Given the description of an element on the screen output the (x, y) to click on. 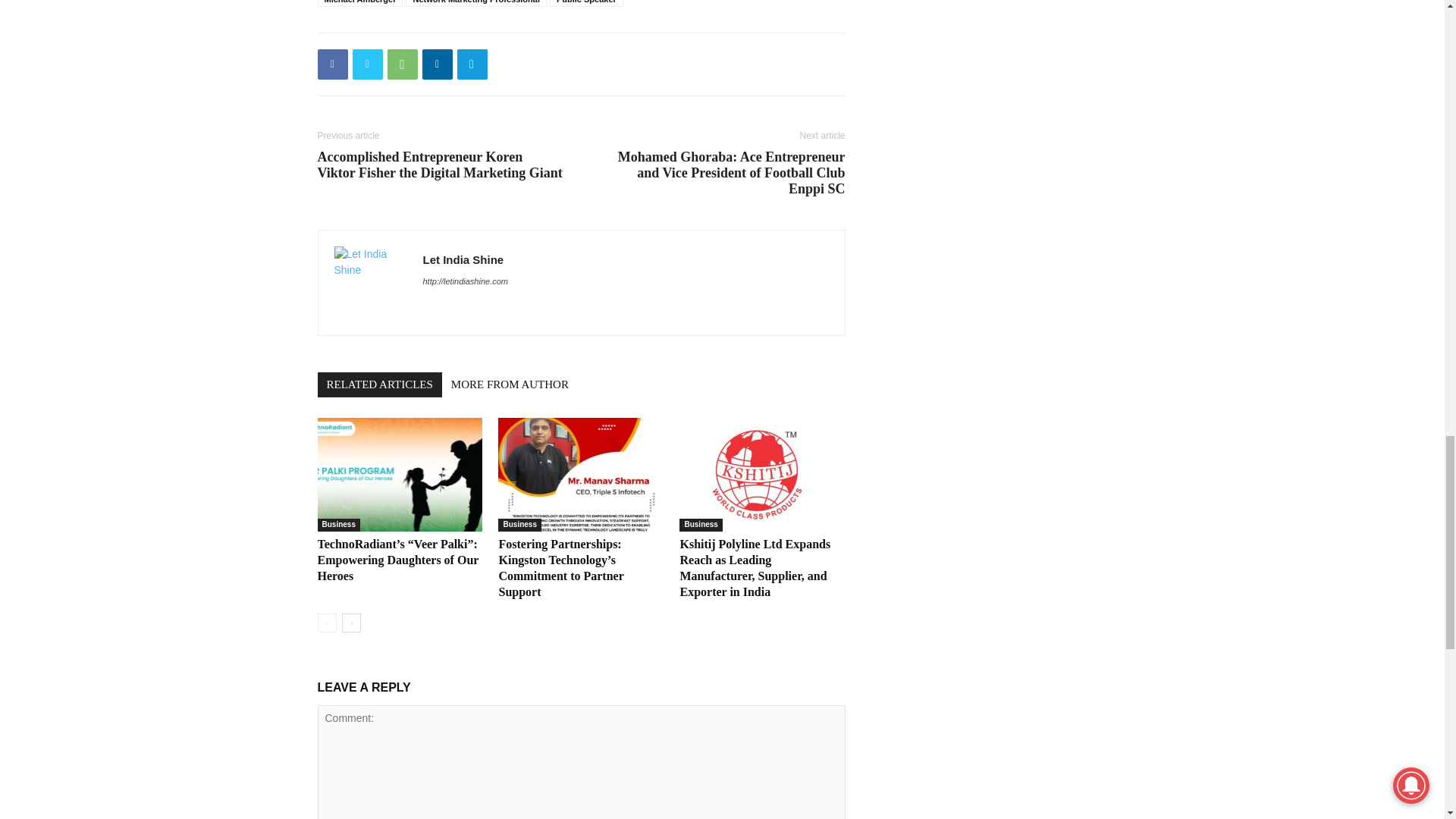
WhatsApp (401, 64)
Twitter (366, 64)
Facebook (332, 64)
